Given the description of an element on the screen output the (x, y) to click on. 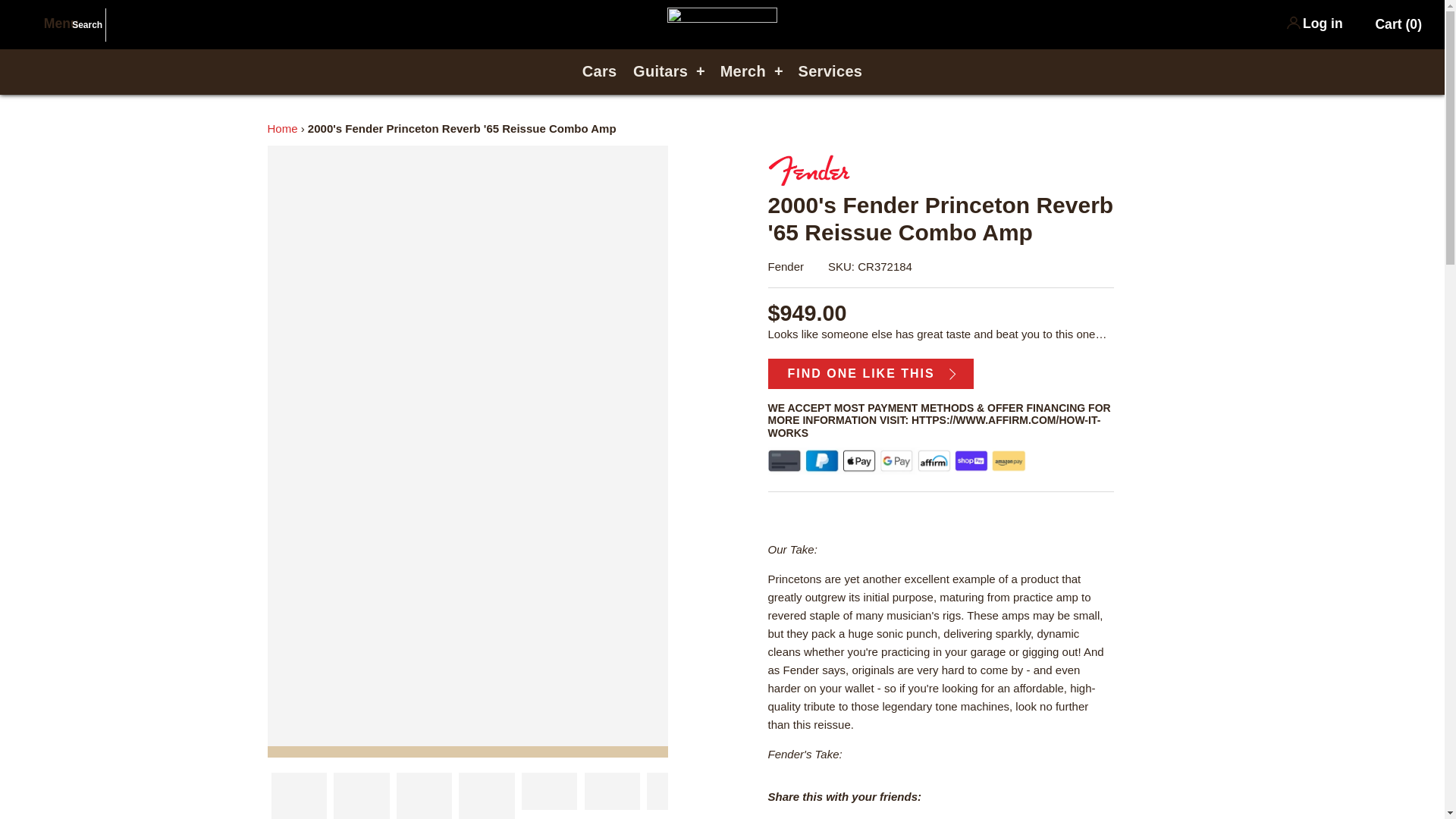
GROUP 2 CREATED WITH SKETCH. Menu (50, 22)
Services (830, 72)
Log in (1322, 22)
Cars (599, 72)
Walt Grace Vintage (721, 15)
